Given the description of an element on the screen output the (x, y) to click on. 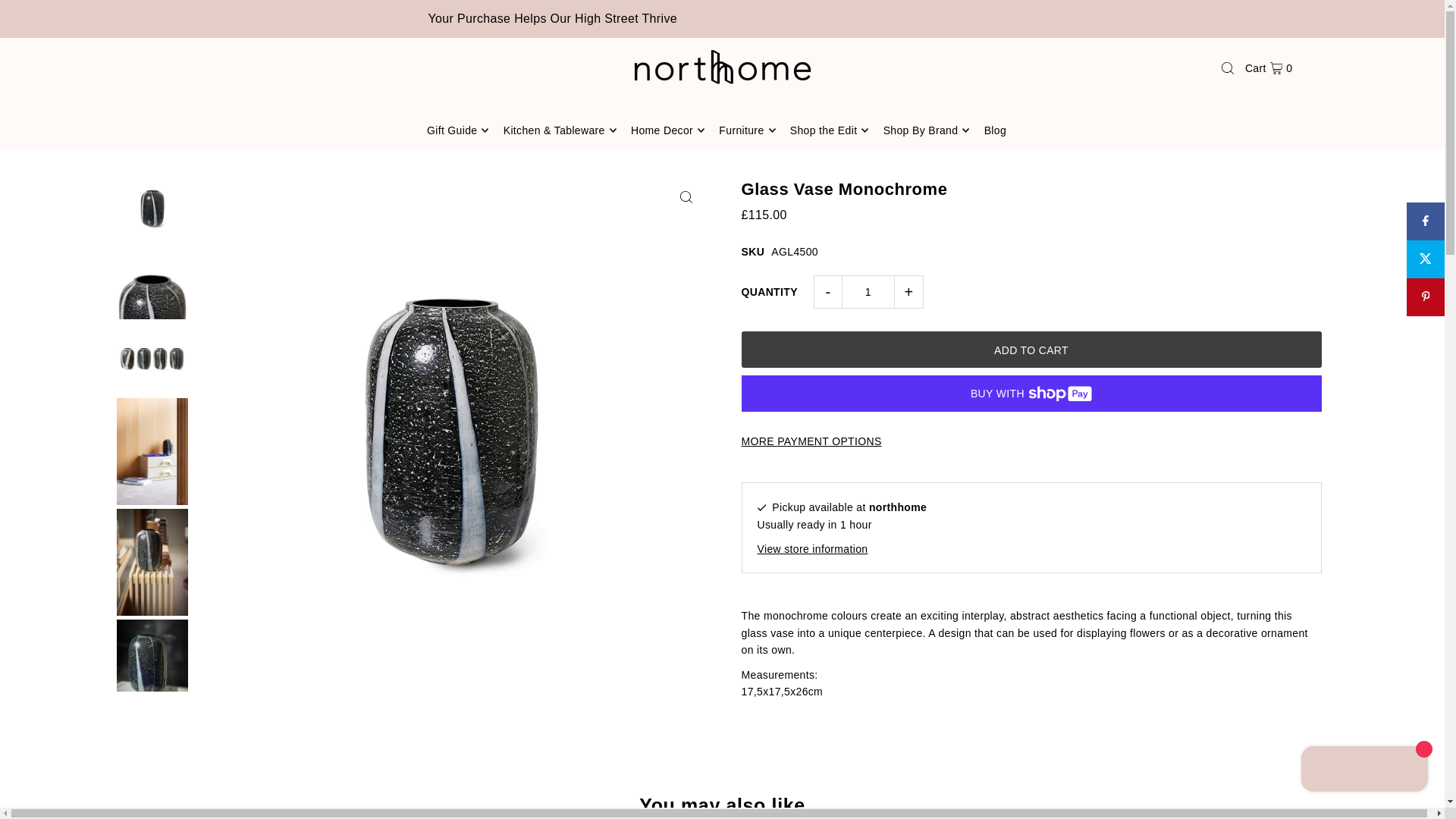
Share on Twitter (1425, 259)
Your Purchase Helps Our High Street Thrive (722, 18)
Your Purchase Helps Our High Street Thrive (722, 18)
Cart (1268, 67)
Click to zoom (685, 196)
1 (868, 291)
Share on Pinterest (1425, 297)
Share on Facebook (1425, 221)
Add to Cart (1031, 349)
Gift Guide (457, 130)
Your Purchase Helps Our High Street Thrive (721, 18)
Your Purchase Helps Our High Street Thrive (626, 18)
